Given the description of an element on the screen output the (x, y) to click on. 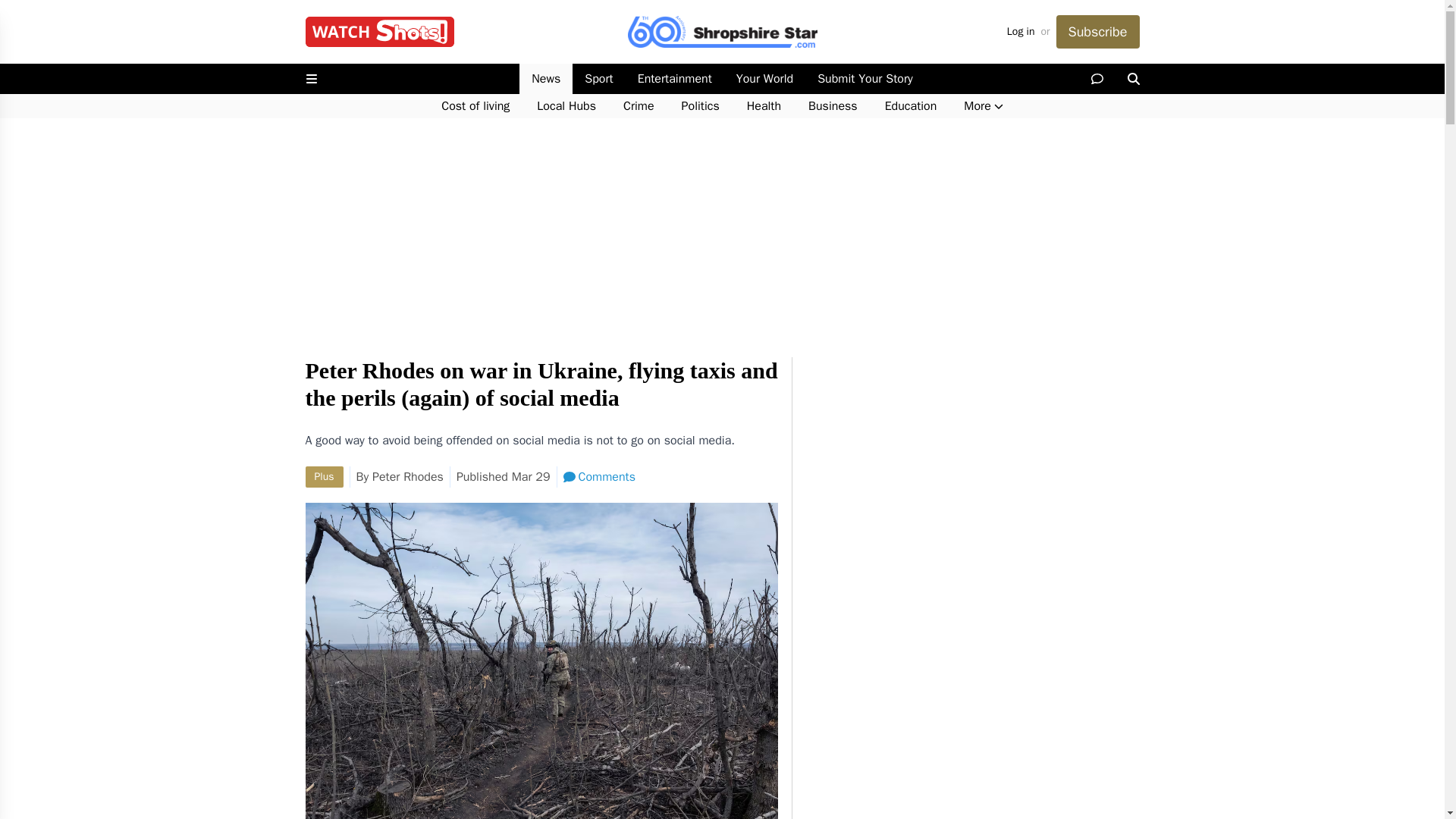
Submit Your Story (864, 78)
Education (910, 105)
Subscribe (1096, 31)
Business (832, 105)
News (545, 78)
Crime (638, 105)
Log in (1021, 31)
Health (764, 105)
Cost of living (475, 105)
Local Hubs (566, 105)
More (983, 105)
Sport (598, 78)
Politics (700, 105)
Your World (764, 78)
